Given the description of an element on the screen output the (x, y) to click on. 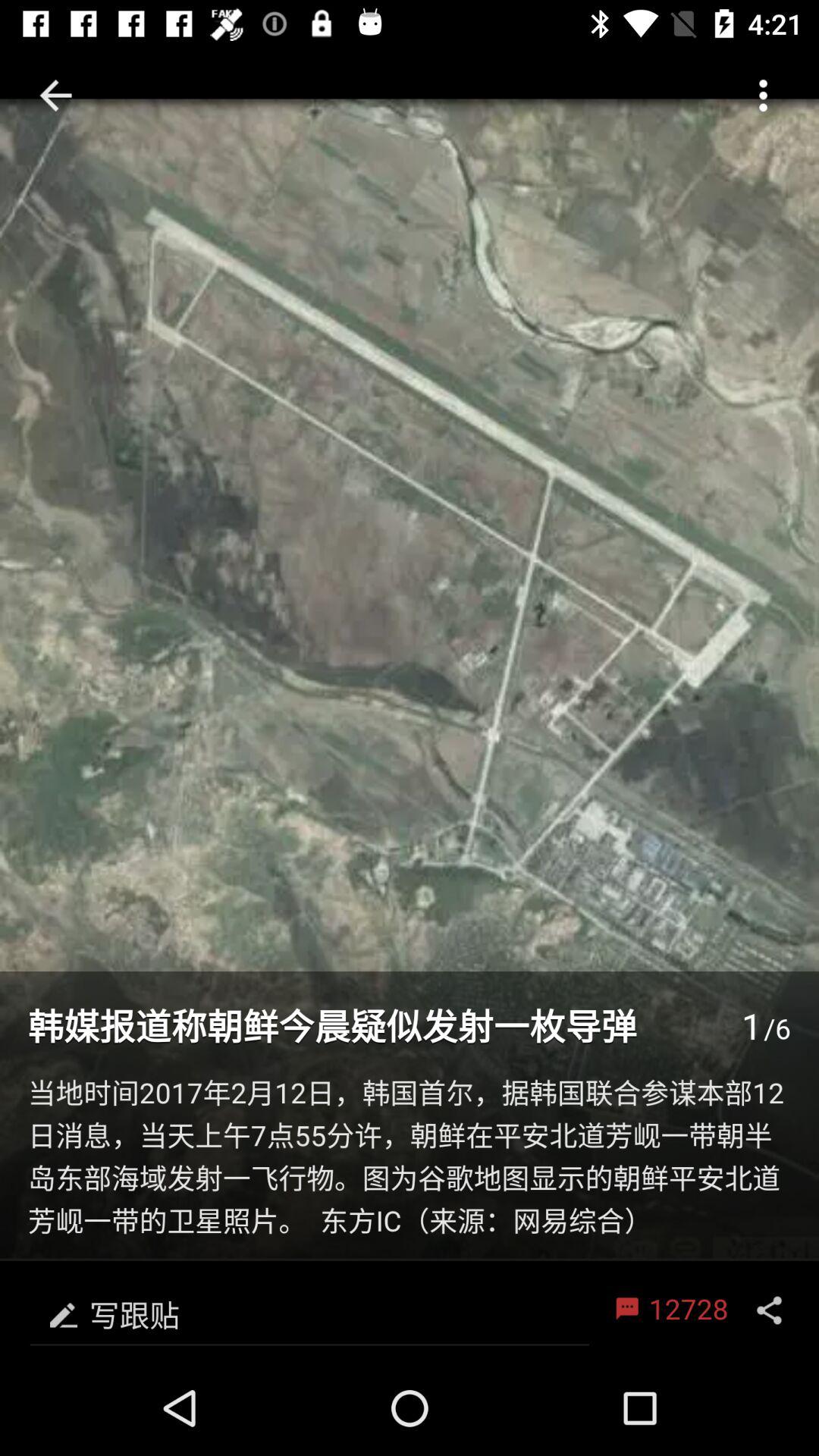
launch item next to 12728 item (768, 1310)
